Given the description of an element on the screen output the (x, y) to click on. 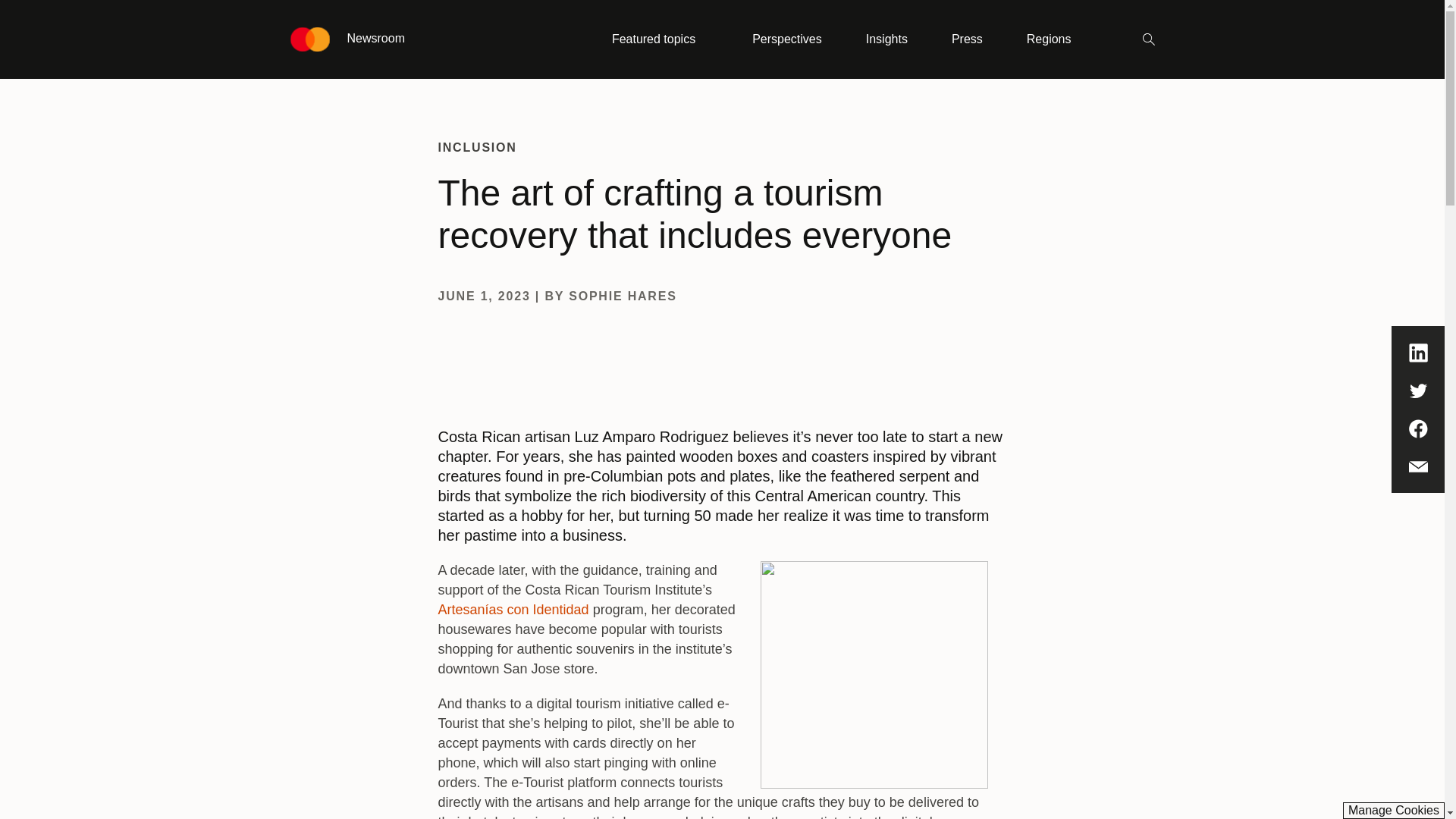
Perspectives (786, 39)
Featured topics (659, 39)
Newsroom (346, 39)
